Given the description of an element on the screen output the (x, y) to click on. 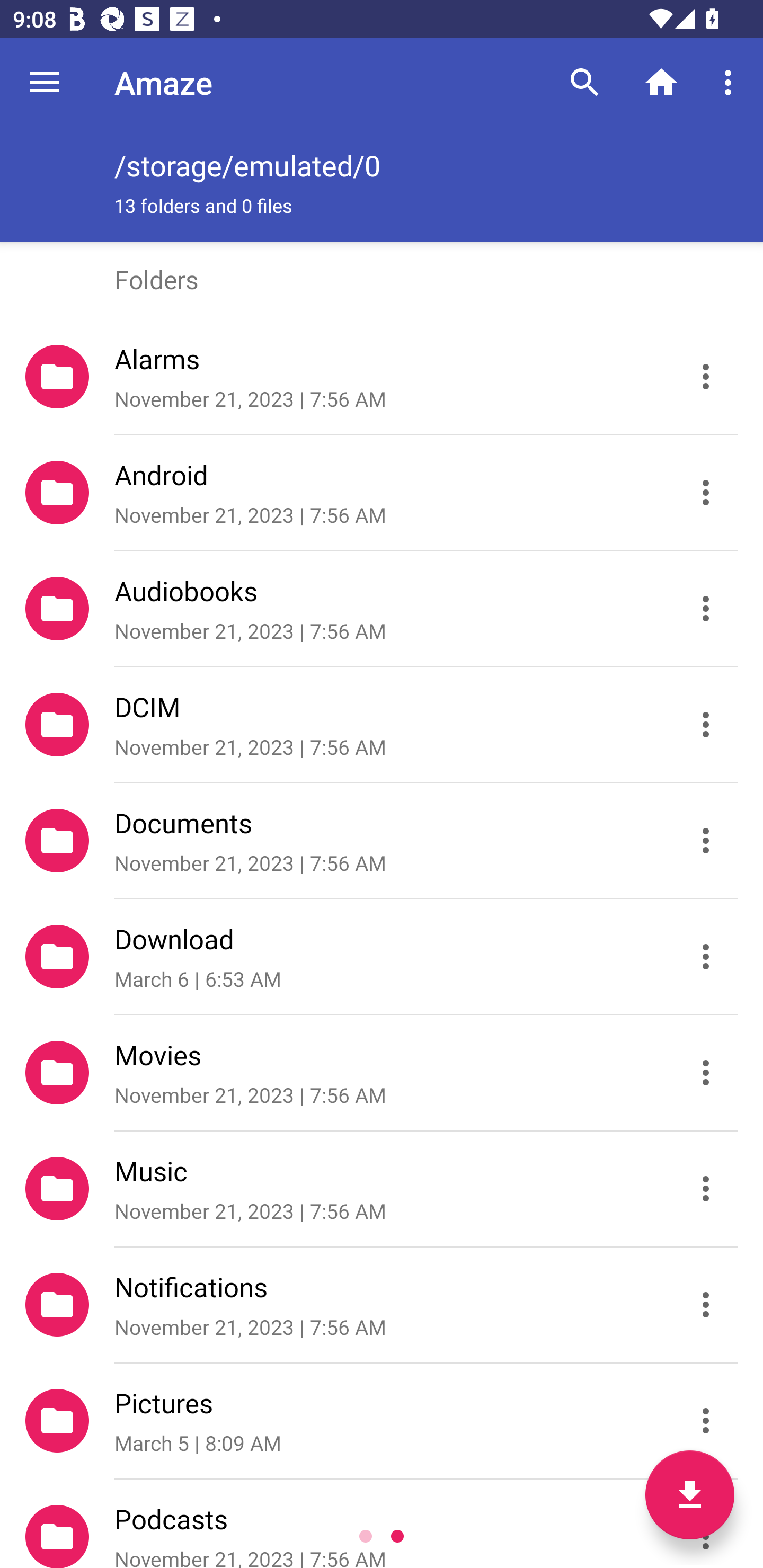
Navigate up (44, 82)
Search (585, 81)
Home (661, 81)
More options (731, 81)
Alarms November 21, 2023 | 7:56 AM (381, 376)
Android November 21, 2023 | 7:56 AM (381, 492)
Audiobooks November 21, 2023 | 7:56 AM (381, 608)
DCIM November 21, 2023 | 7:56 AM (381, 724)
Documents November 21, 2023 | 7:56 AM (381, 841)
Download March 6 | 6:53 AM (381, 957)
Movies November 21, 2023 | 7:56 AM (381, 1073)
Music November 21, 2023 | 7:56 AM (381, 1189)
Notifications November 21, 2023 | 7:56 AM (381, 1305)
Pictures March 5 | 8:09 AM (381, 1421)
Podcasts November 21, 2023 | 7:56 AM (381, 1524)
